Given the description of an element on the screen output the (x, y) to click on. 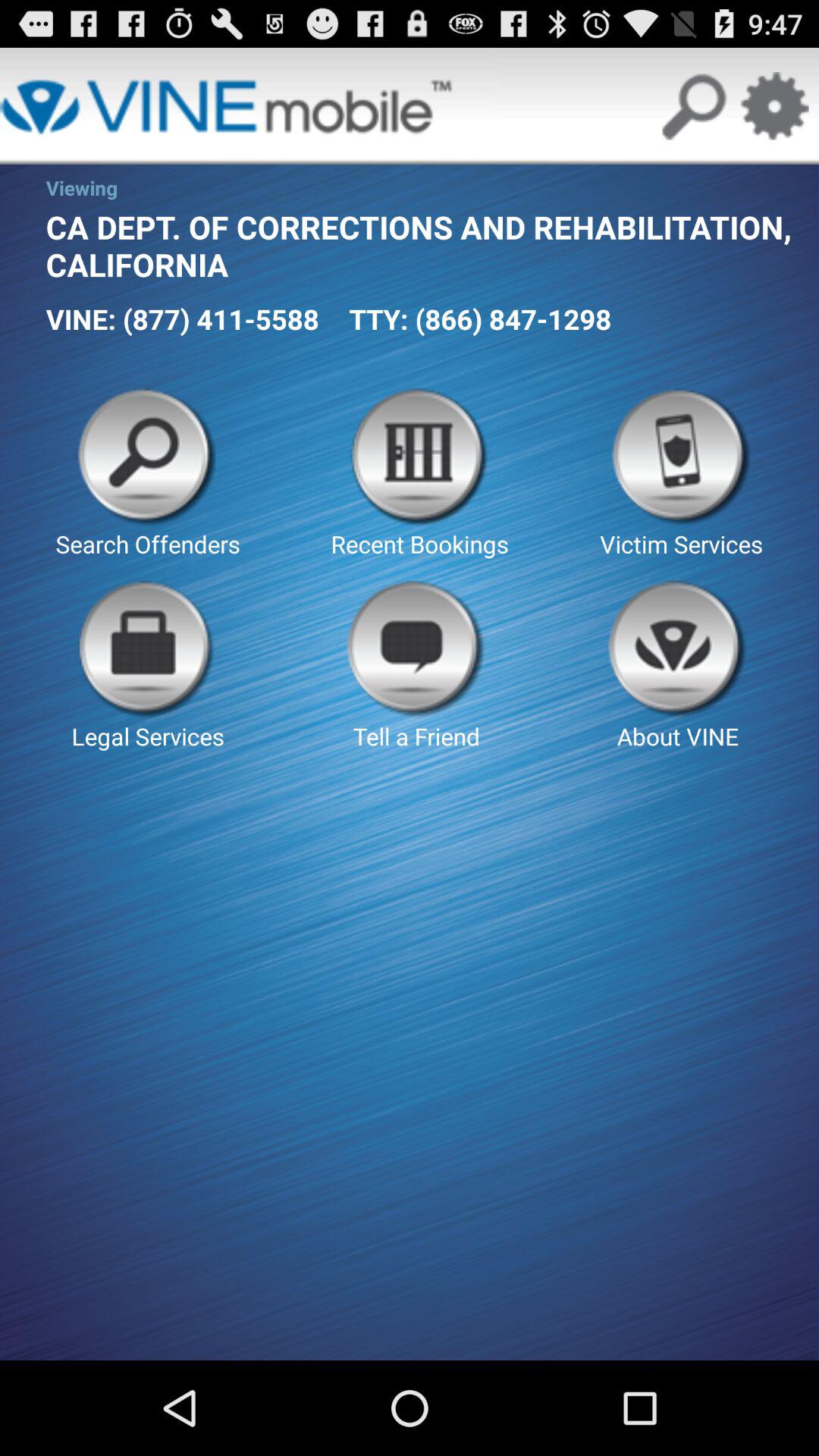
tap item below the recent bookings icon (677, 666)
